Given the description of an element on the screen output the (x, y) to click on. 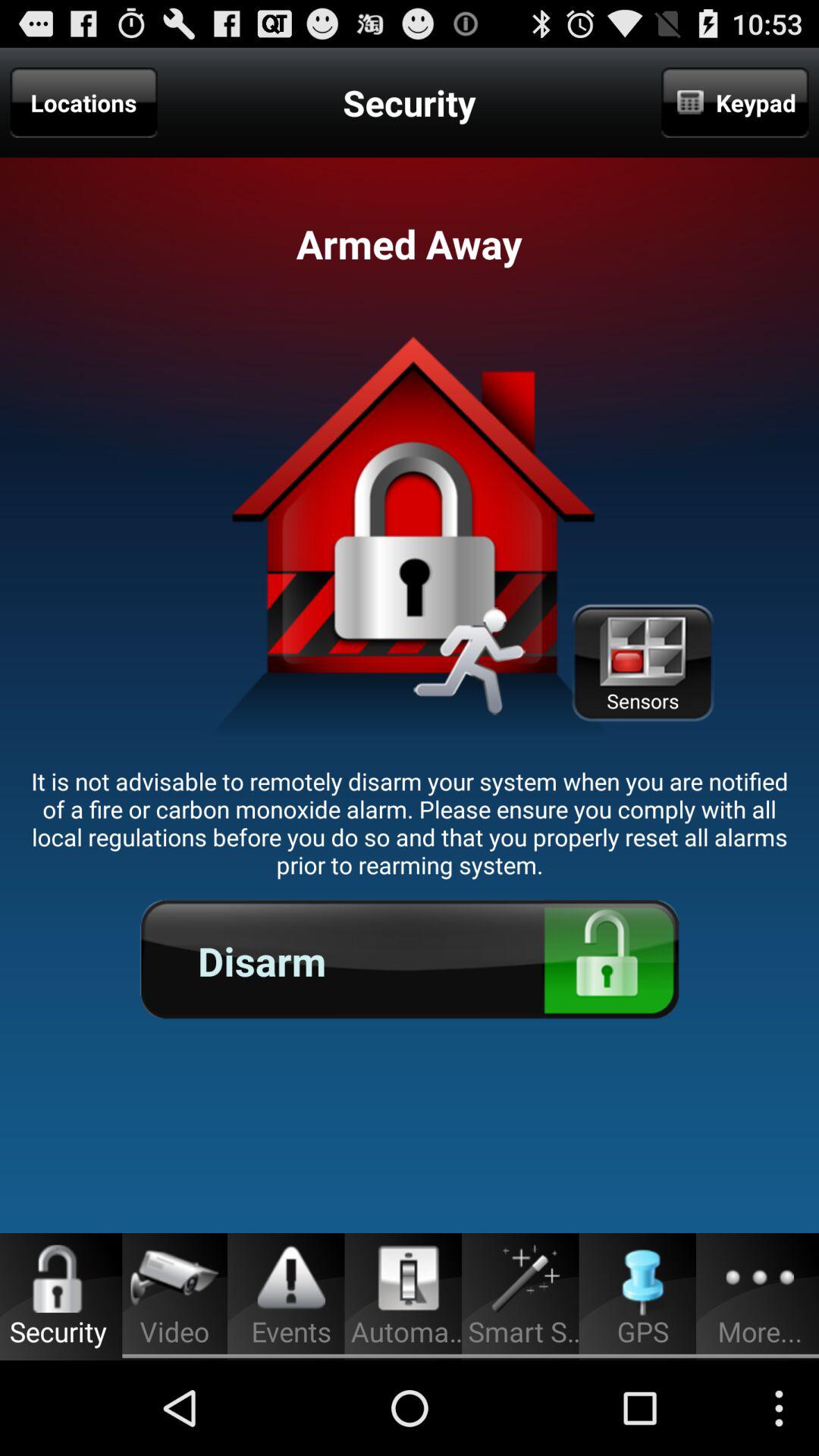
jump to the locations item (83, 102)
